Given the description of an element on the screen output the (x, y) to click on. 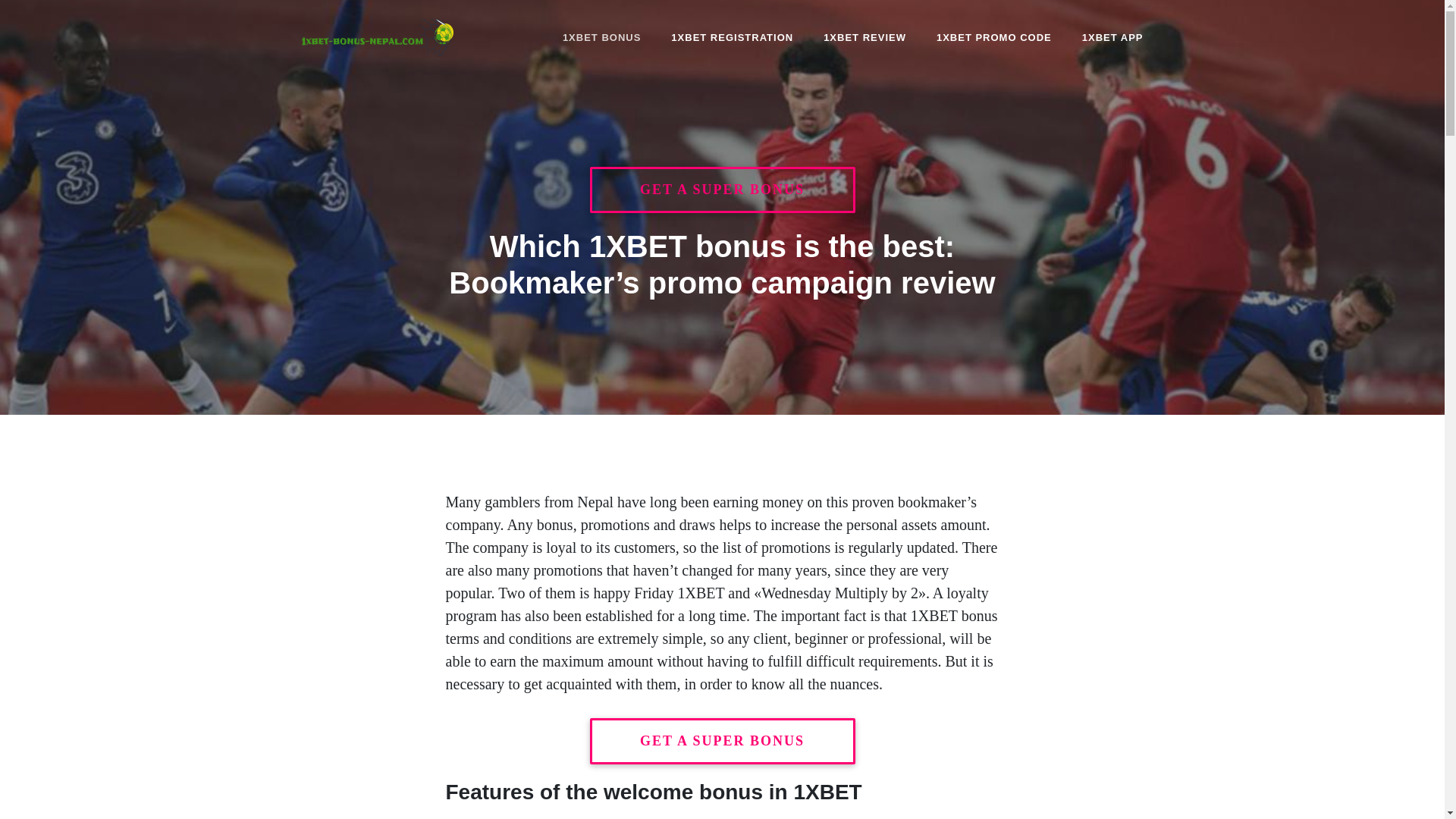
GET A SUPER BONUS Element type: text (722, 189)
1XBET BONUS Element type: text (601, 37)
1XBET REVIEW Element type: text (864, 37)
1XBET APP Element type: text (1104, 37)
GET A SUPER BONUS Element type: text (722, 741)
1XBET REGISTRATION Element type: text (731, 37)
1XBET PROMO CODE Element type: text (993, 37)
